Given the description of an element on the screen output the (x, y) to click on. 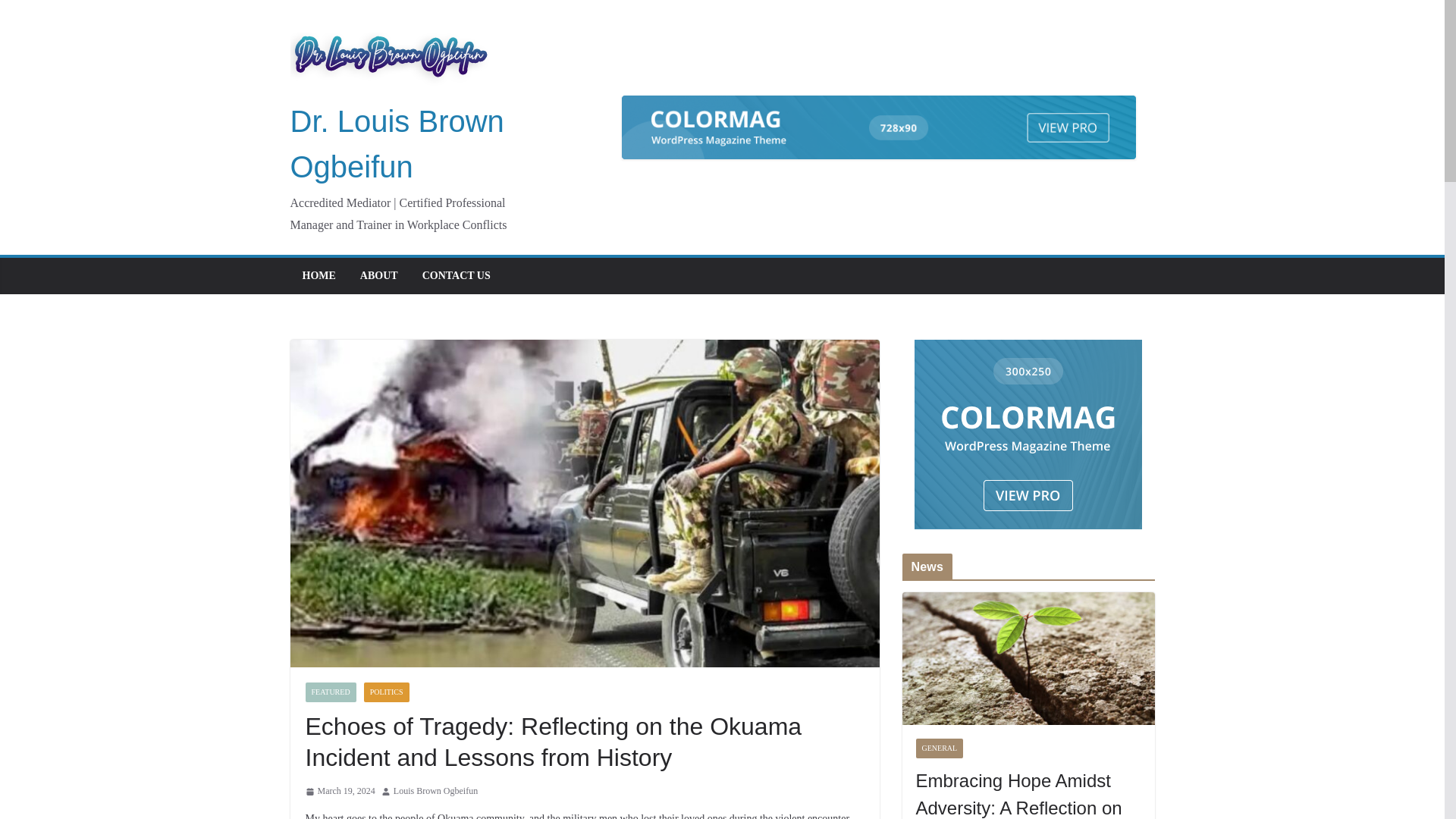
ABOUT (378, 275)
Dr. Louis Brown Ogbeifun (396, 143)
12:55 pm (339, 791)
HOME (317, 275)
Dr. Louis Brown Ogbeifun (396, 143)
POLITICS (386, 691)
Louis Brown Ogbeifun (435, 791)
CONTACT US (456, 275)
GENERAL (939, 748)
March 19, 2024 (339, 791)
FEATURED (329, 691)
Louis Brown Ogbeifun (435, 791)
